Given the description of an element on the screen output the (x, y) to click on. 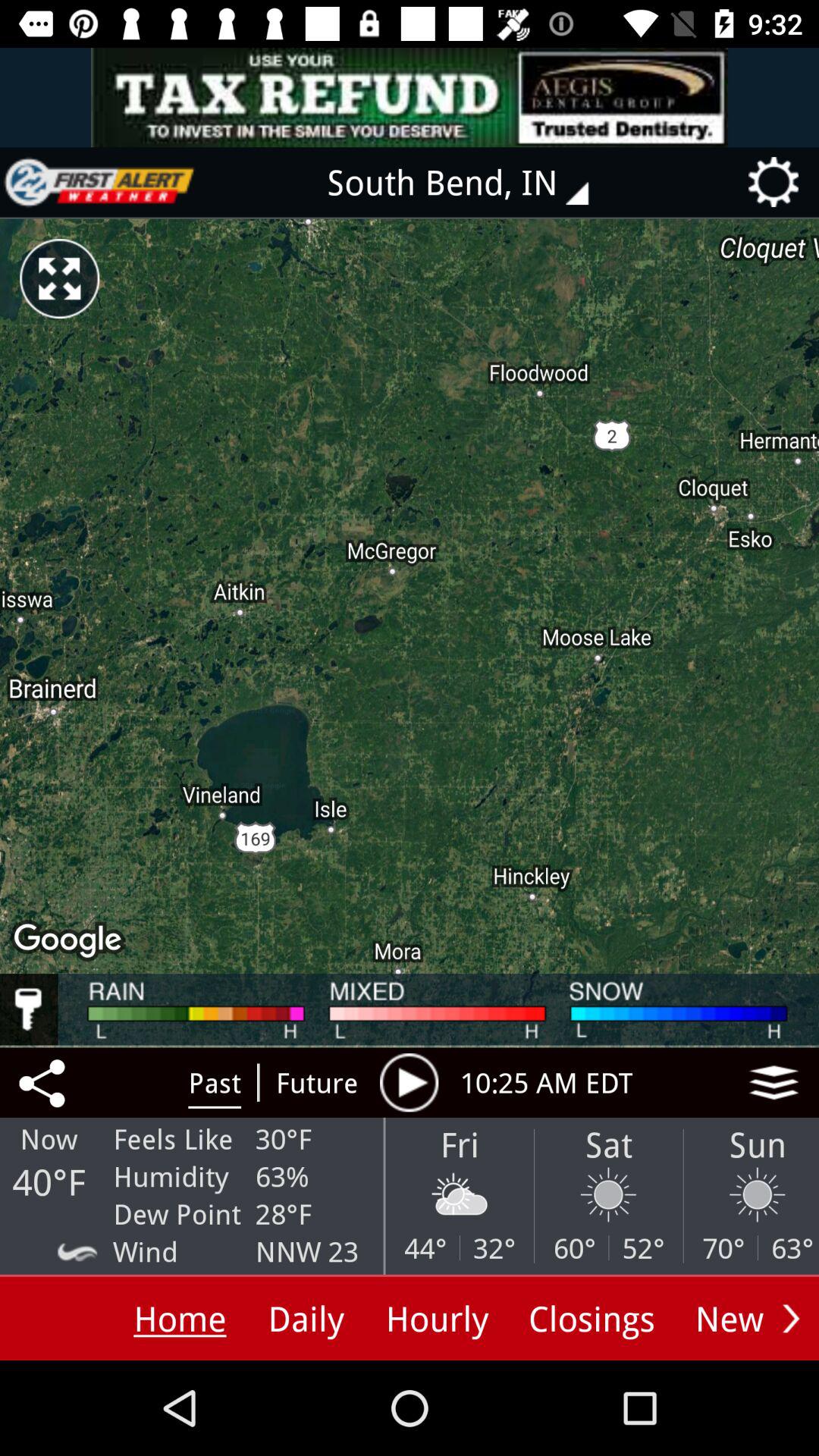
play option (409, 1082)
